Given the description of an element on the screen output the (x, y) to click on. 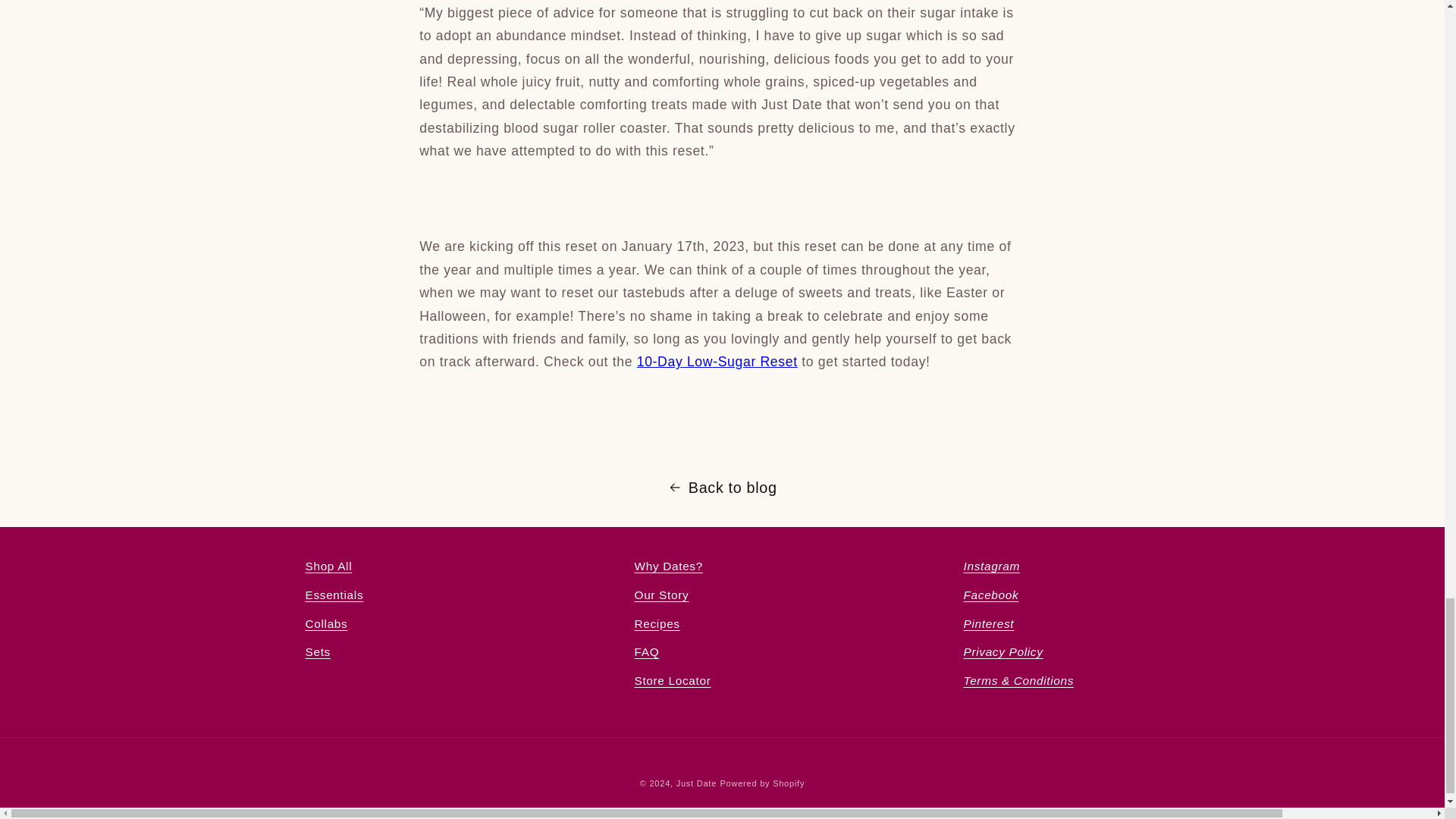
Collabs (325, 623)
Shop All (328, 568)
Essentials (333, 594)
10-Day Low-Sugar Reset (717, 361)
Back to blog (722, 487)
